Given the description of an element on the screen output the (x, y) to click on. 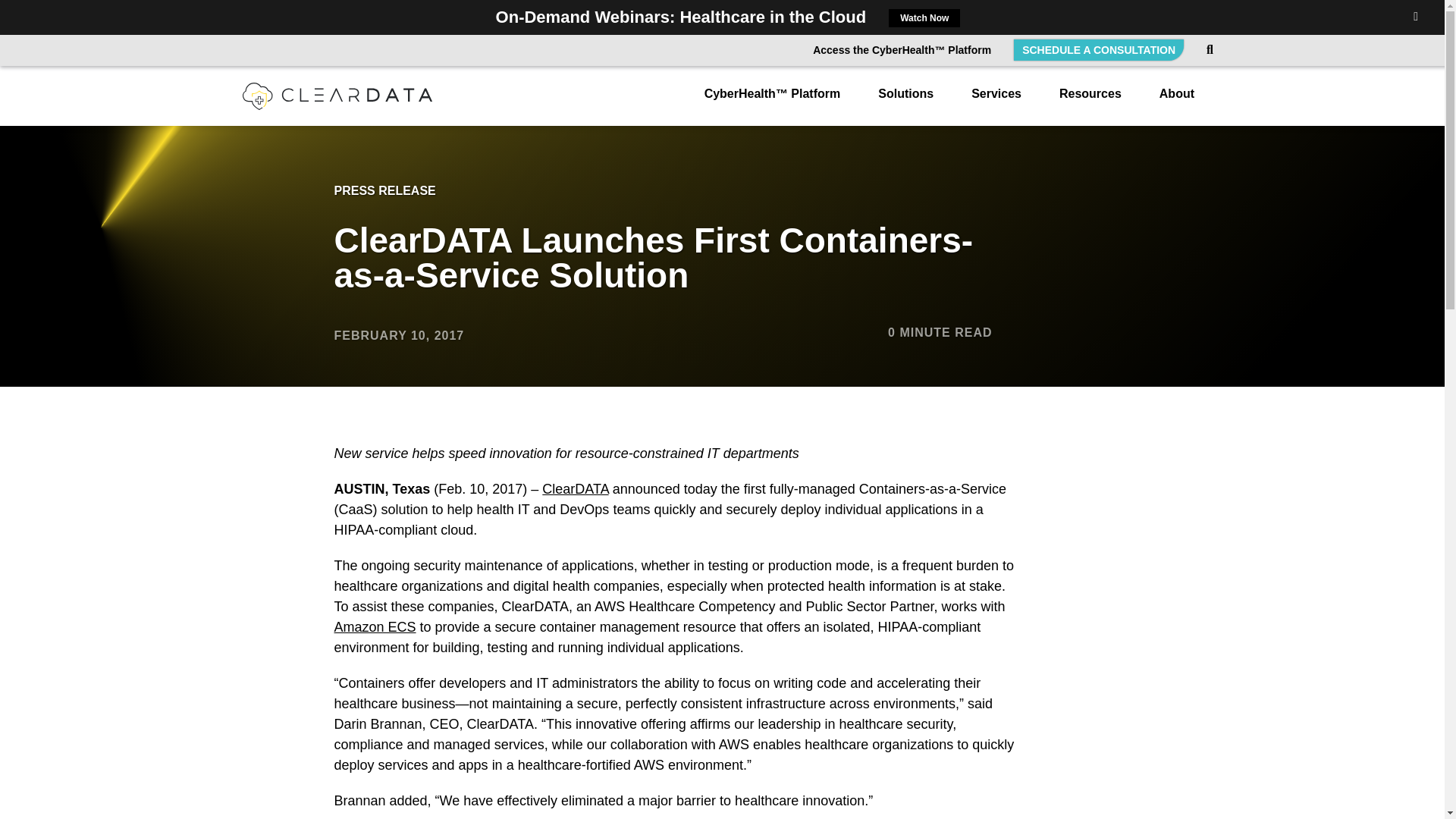
Services (996, 101)
Resources (1090, 101)
SCHEDULE A CONSULTATION (1098, 49)
Solutions (905, 101)
Watch Now (923, 18)
